Given the description of an element on the screen output the (x, y) to click on. 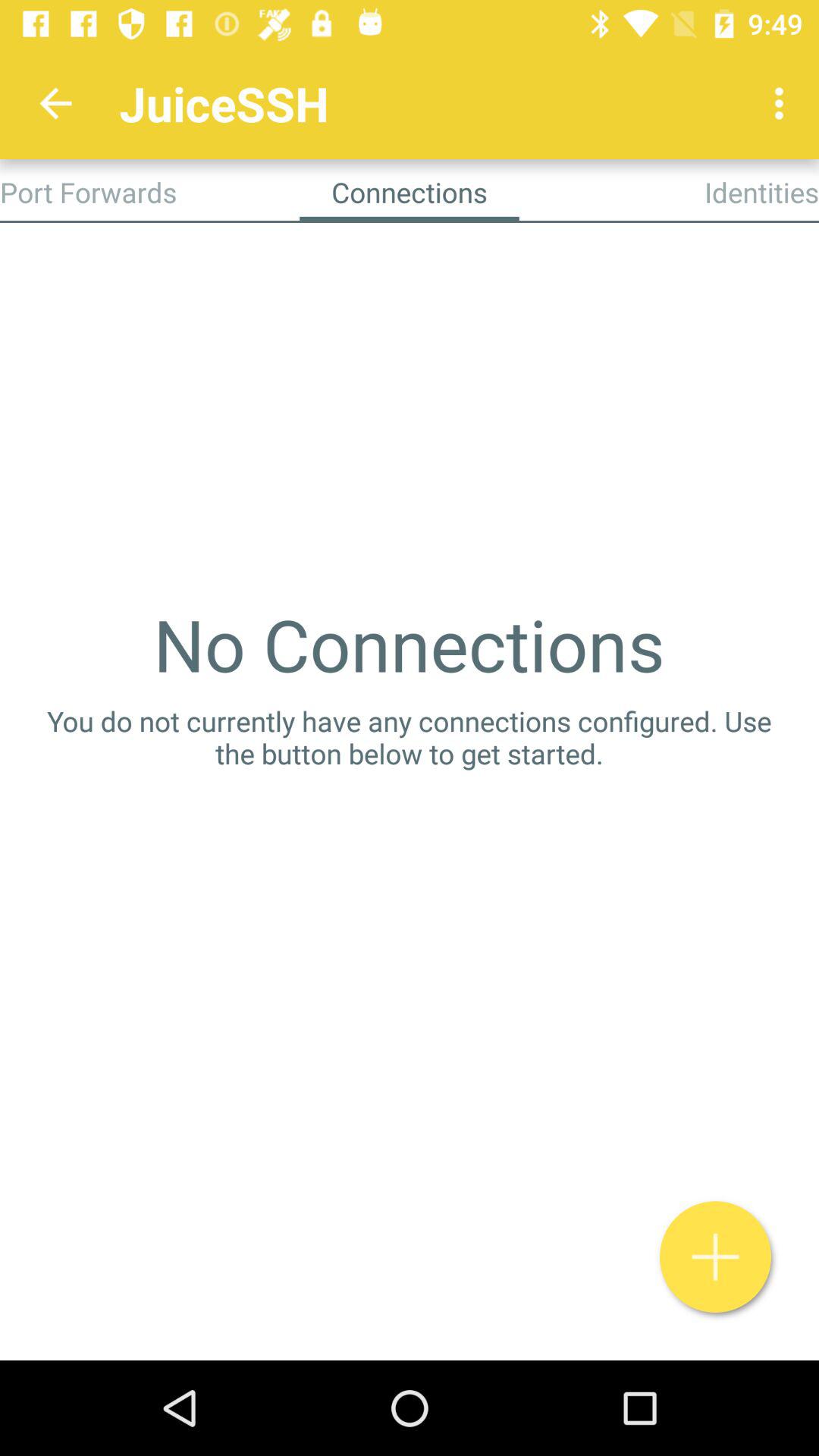
turn off the icon below no connections (409, 737)
